Given the description of an element on the screen output the (x, y) to click on. 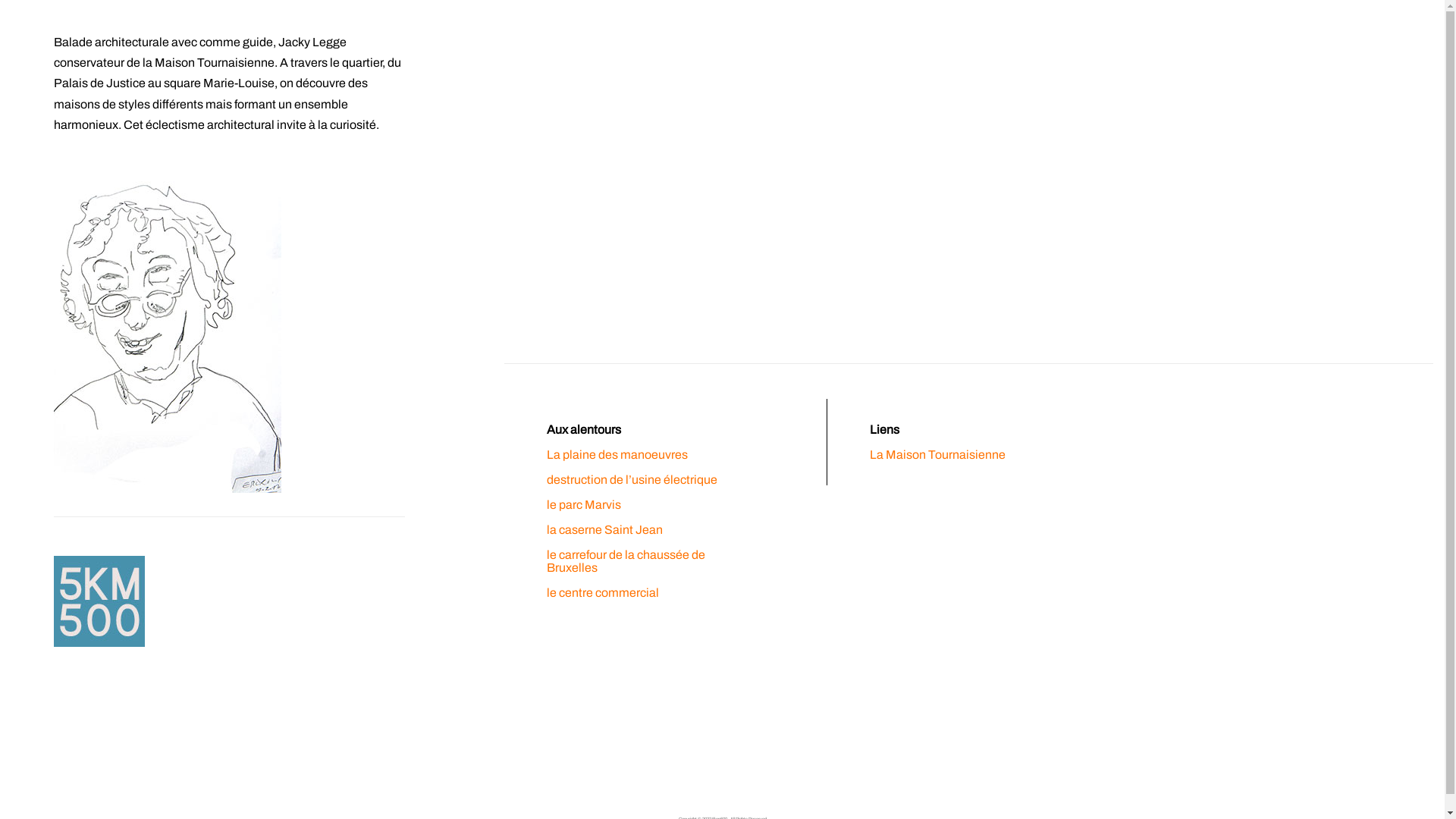
La plaine des manoeuvres Element type: text (616, 454)
La Maison Tournaisienne Element type: text (937, 454)
la caserne Saint Jean Element type: text (604, 529)
le parc Marvis Element type: text (583, 504)
le centre commercial Element type: text (602, 592)
